Given the description of an element on the screen output the (x, y) to click on. 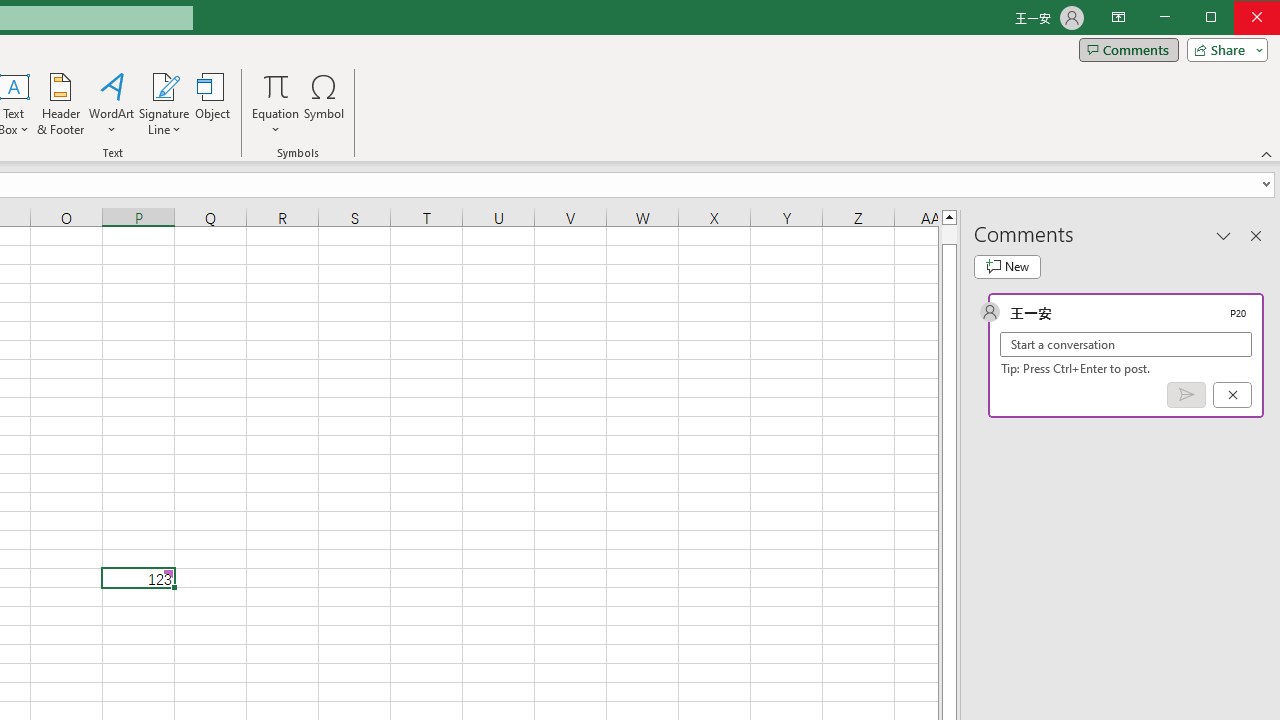
Start a conversation (1126, 344)
Equation (275, 104)
Signature Line (164, 104)
Equation (275, 86)
Maximize (1239, 18)
Object... (213, 104)
